Given the description of an element on the screen output the (x, y) to click on. 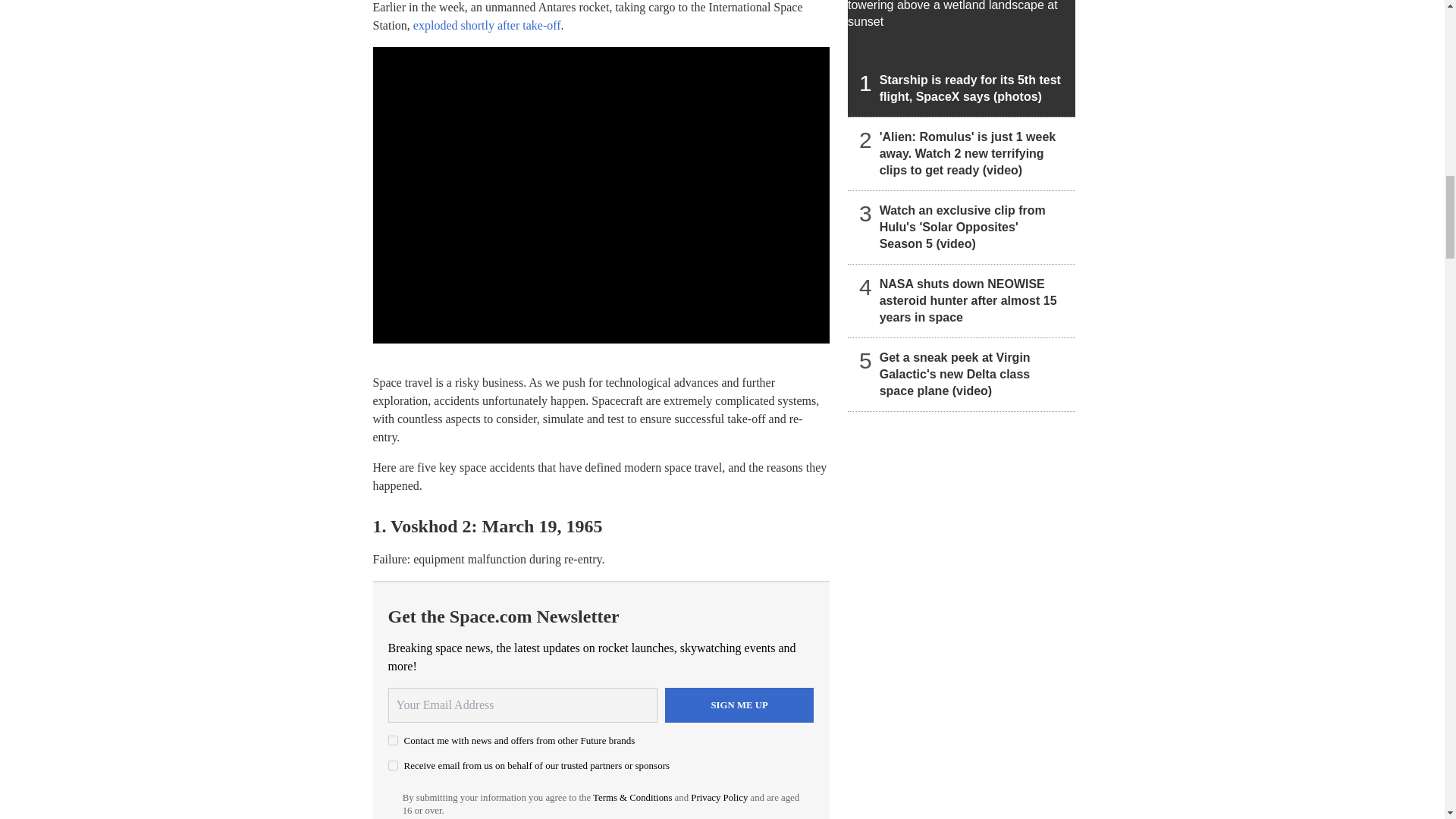
on (392, 740)
on (392, 765)
Sign me up (739, 704)
